Given the description of an element on the screen output the (x, y) to click on. 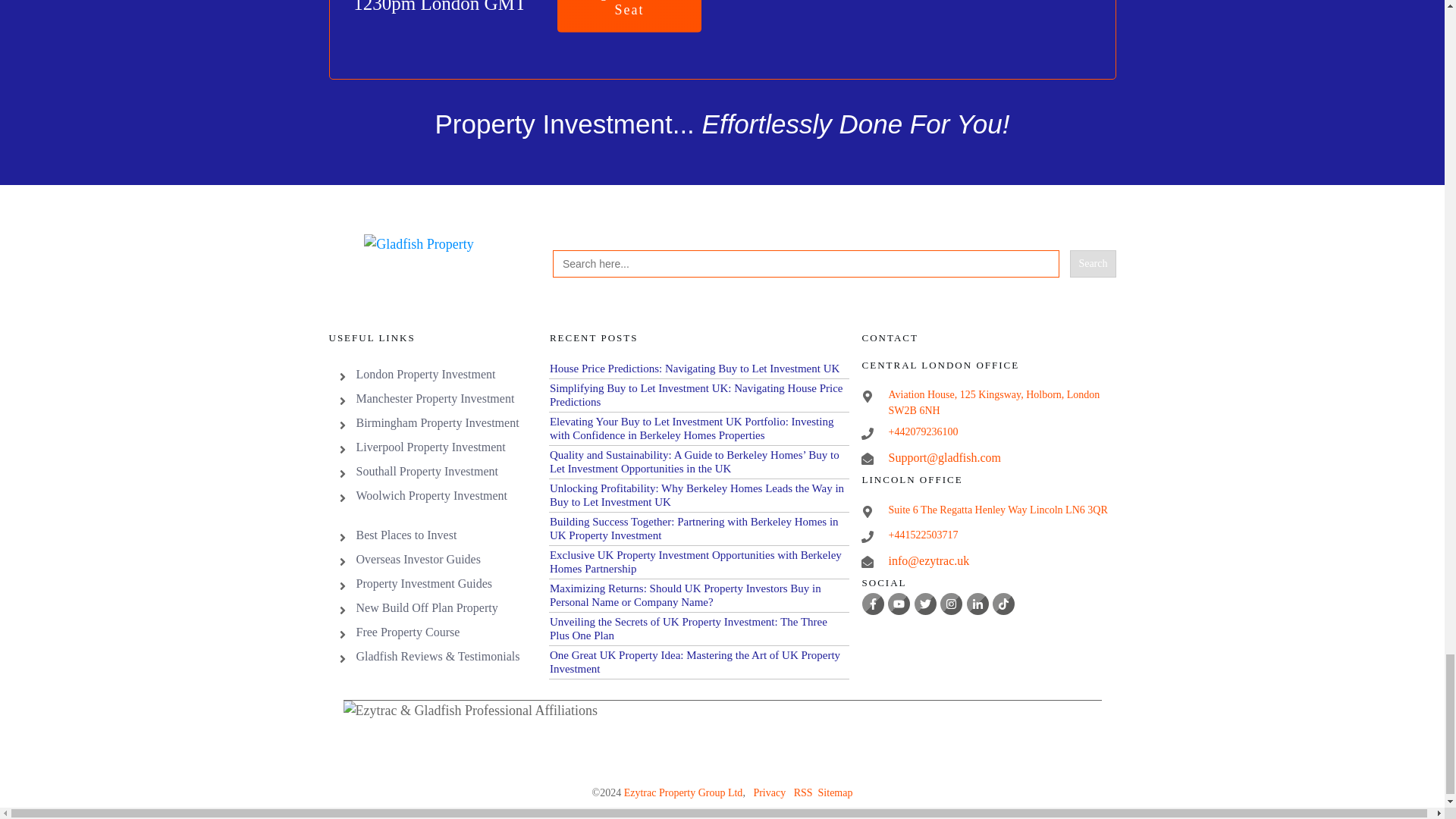
Search (1092, 263)
Search (1092, 263)
Liverpool Property Investment (430, 446)
Search (1092, 263)
Birmingham Property Investment (437, 422)
Manchester Property Investment (435, 398)
Register Your Seat (629, 15)
London Property Investment (426, 373)
House Price Predictions: Navigating Buy to Let Investment UK (695, 368)
